Given the description of an element on the screen output the (x, y) to click on. 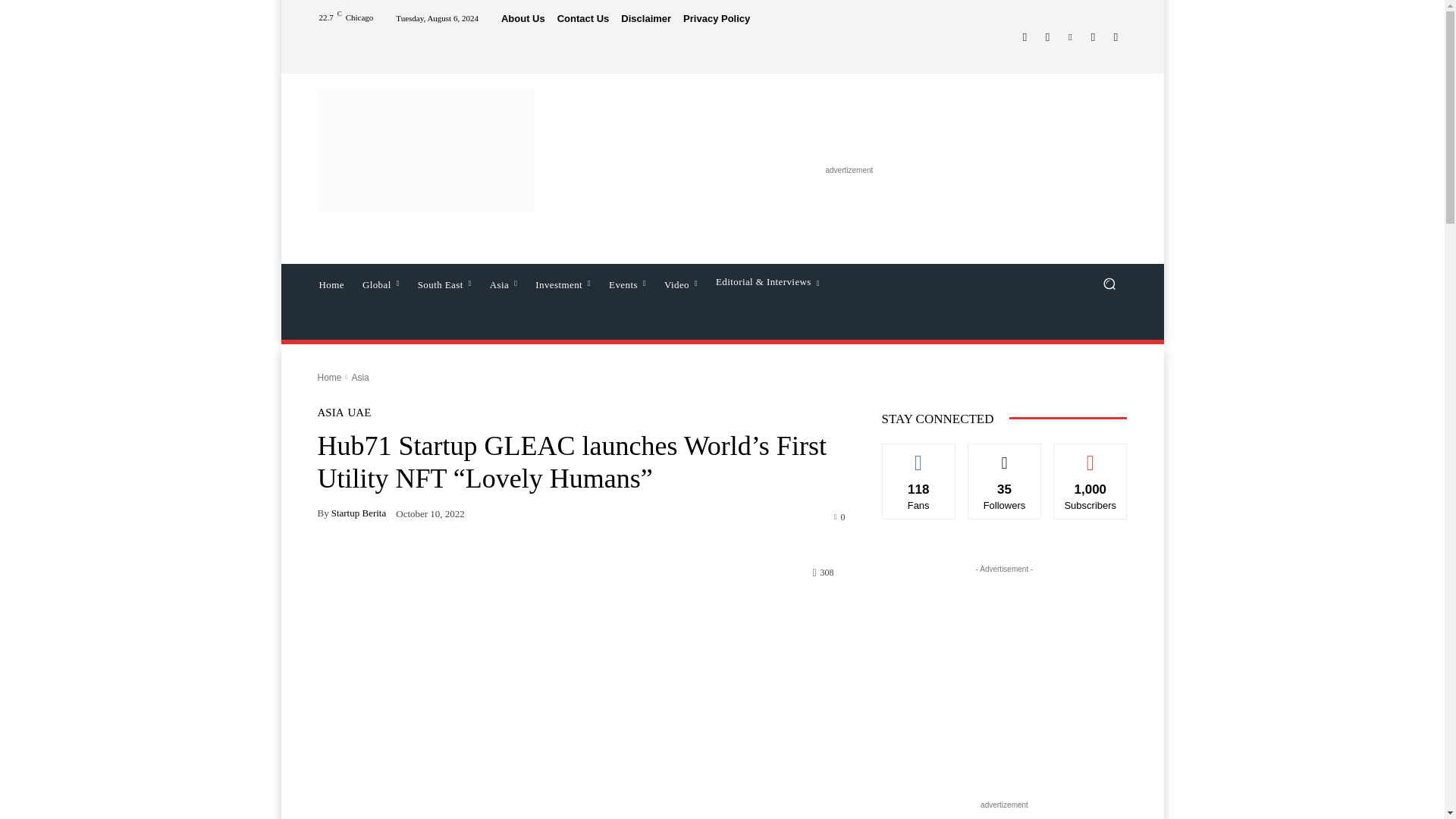
Facebook (1024, 36)
Linkedin (1069, 36)
Twitter (1114, 36)
Privacy Policy (715, 18)
Disclaimer (646, 18)
Instagram (1046, 36)
About Us (522, 18)
Global (381, 283)
Home (330, 283)
Mail (1092, 36)
